Given the description of an element on the screen output the (x, y) to click on. 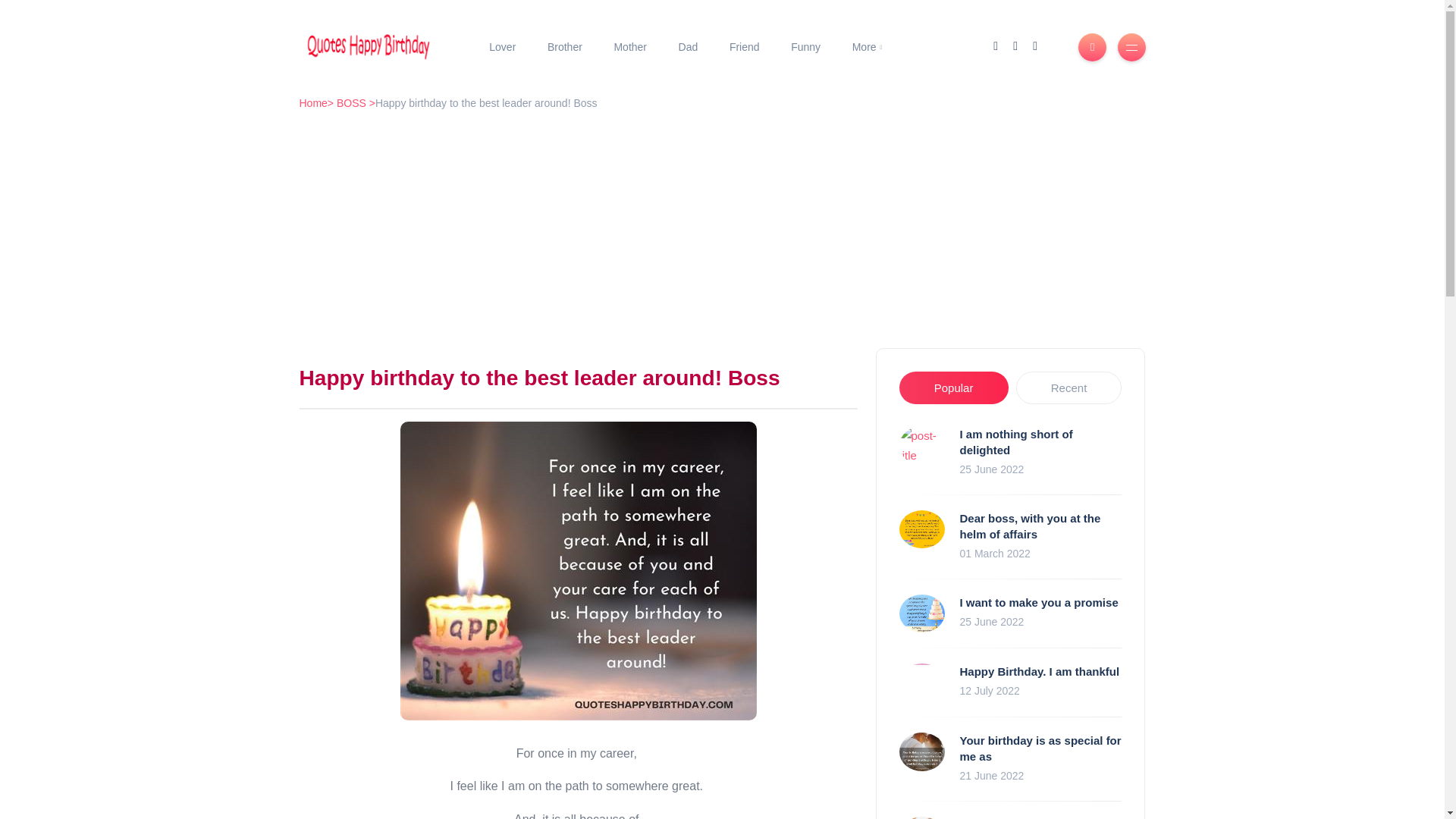
More (866, 47)
Funny (804, 47)
Home (312, 102)
Friend (743, 47)
Dad (687, 47)
Brother (564, 47)
Mother (630, 47)
Lover (502, 47)
Happy birthday to the best leader around! Boss (578, 570)
